Given the description of an element on the screen output the (x, y) to click on. 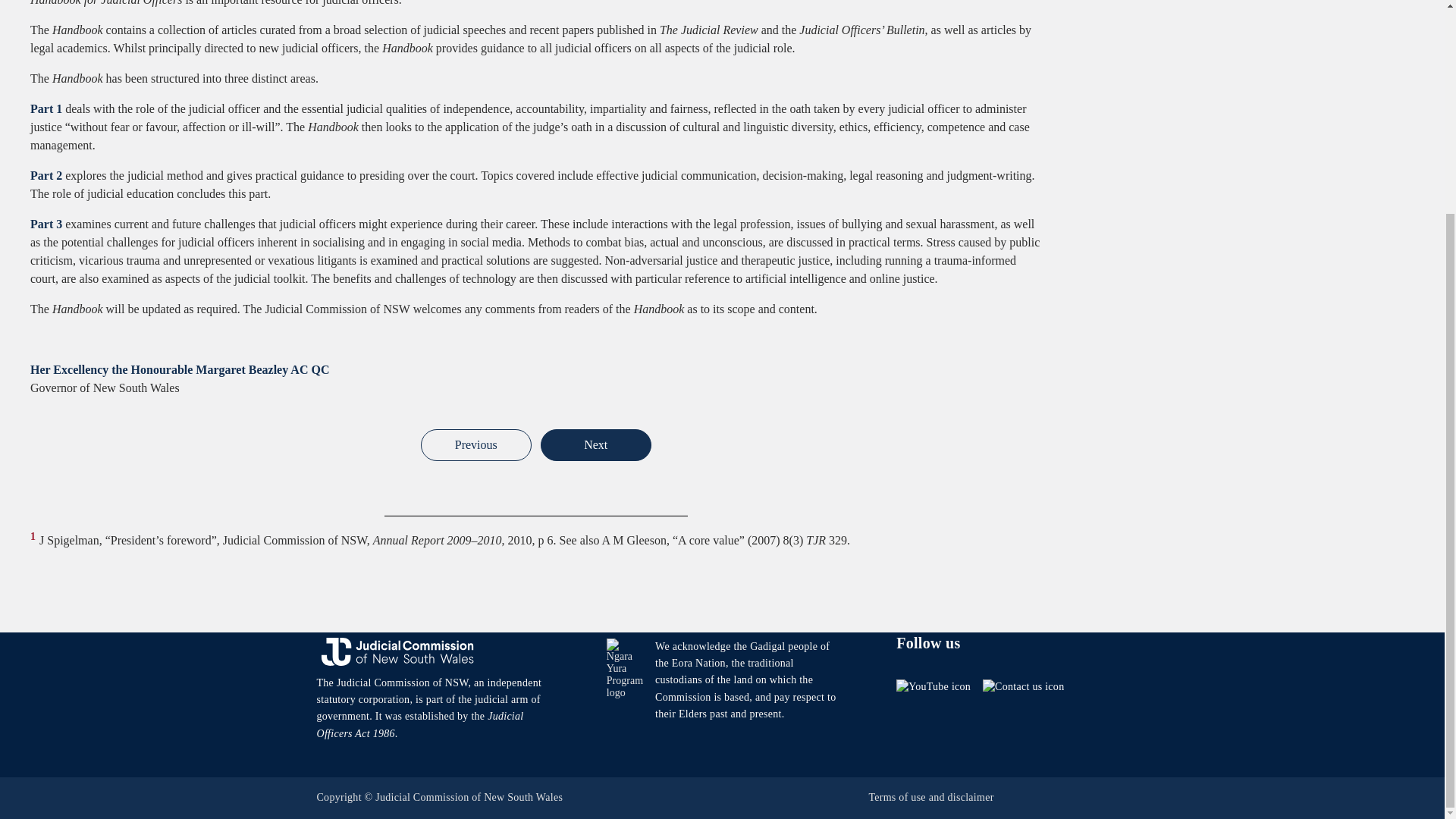
Terms of use and disclaimer (929, 797)
Previous (475, 445)
International Award (595, 445)
???TITLE??? (475, 445)
Next (595, 445)
